Given the description of an element on the screen output the (x, y) to click on. 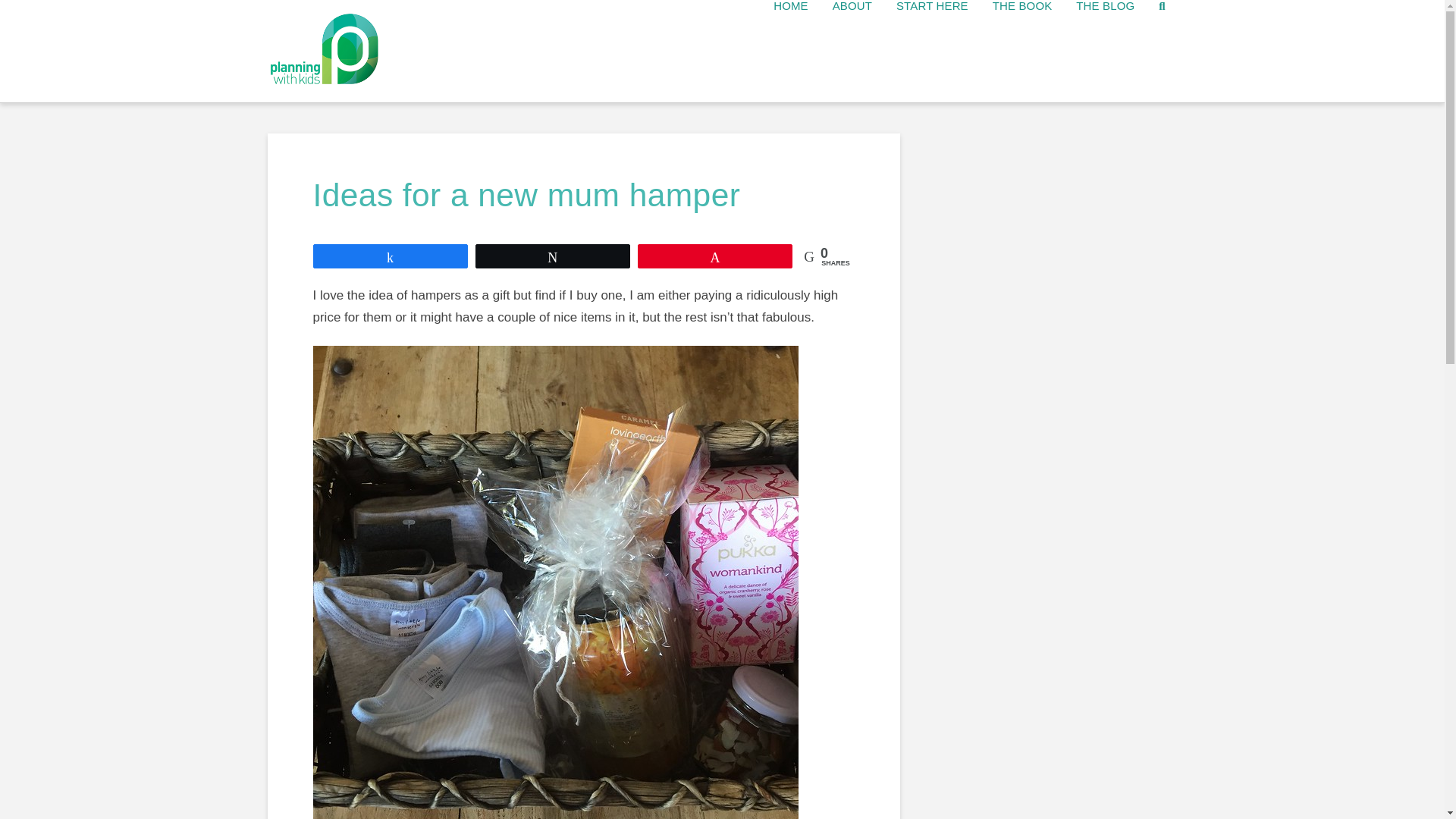
START HERE (931, 51)
